Given the description of an element on the screen output the (x, y) to click on. 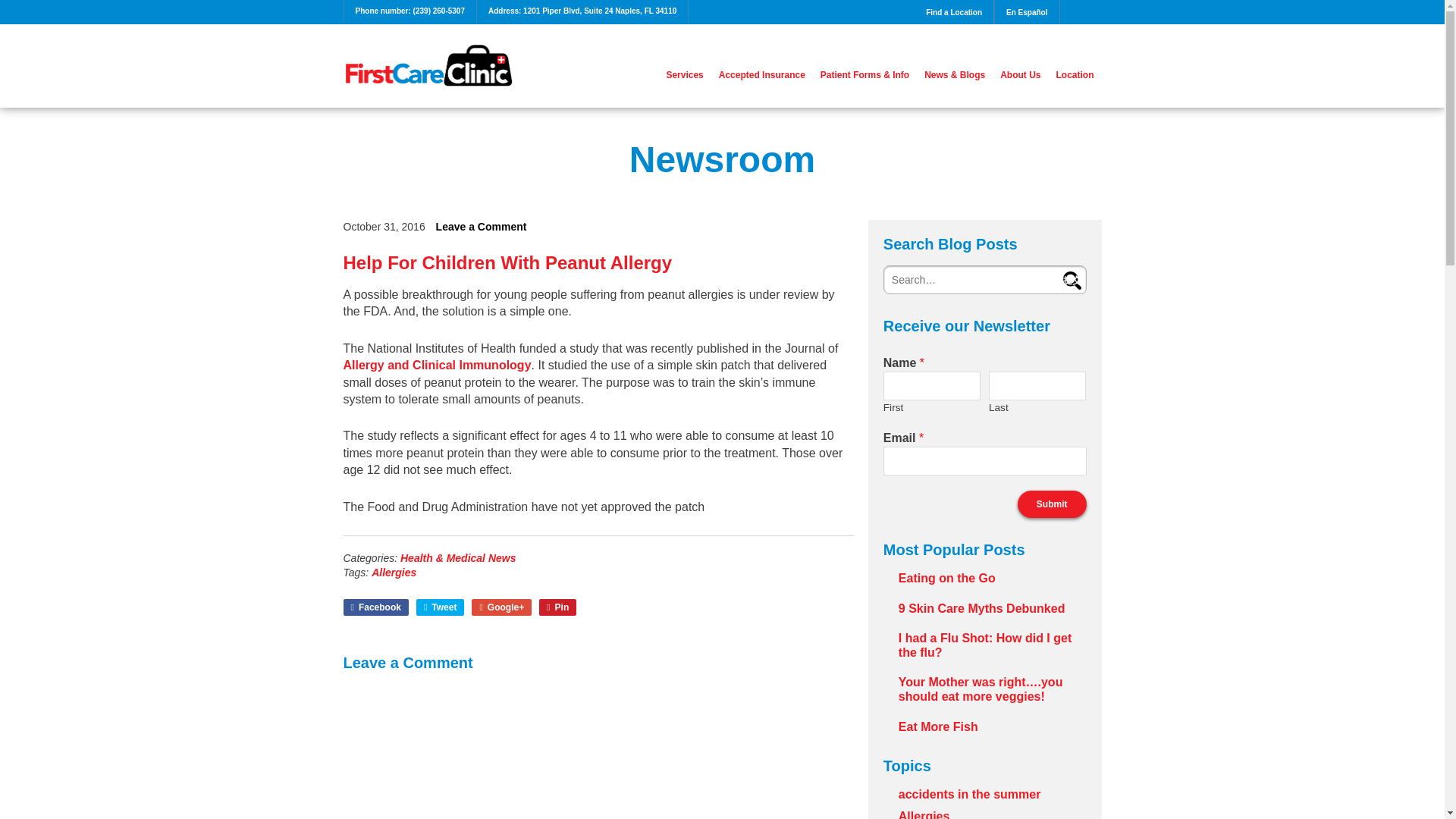
Services (684, 74)
Address: 1201 Piper Blvd, Suite 24 Naples, FL 34110 (582, 11)
Find a Location (954, 12)
Allergy and Clinical Immunology (436, 364)
First Care (427, 65)
Pin (557, 606)
About Us (1020, 74)
Share on Twitter (440, 606)
Allergies (393, 572)
Facebook (374, 606)
